Given the description of an element on the screen output the (x, y) to click on. 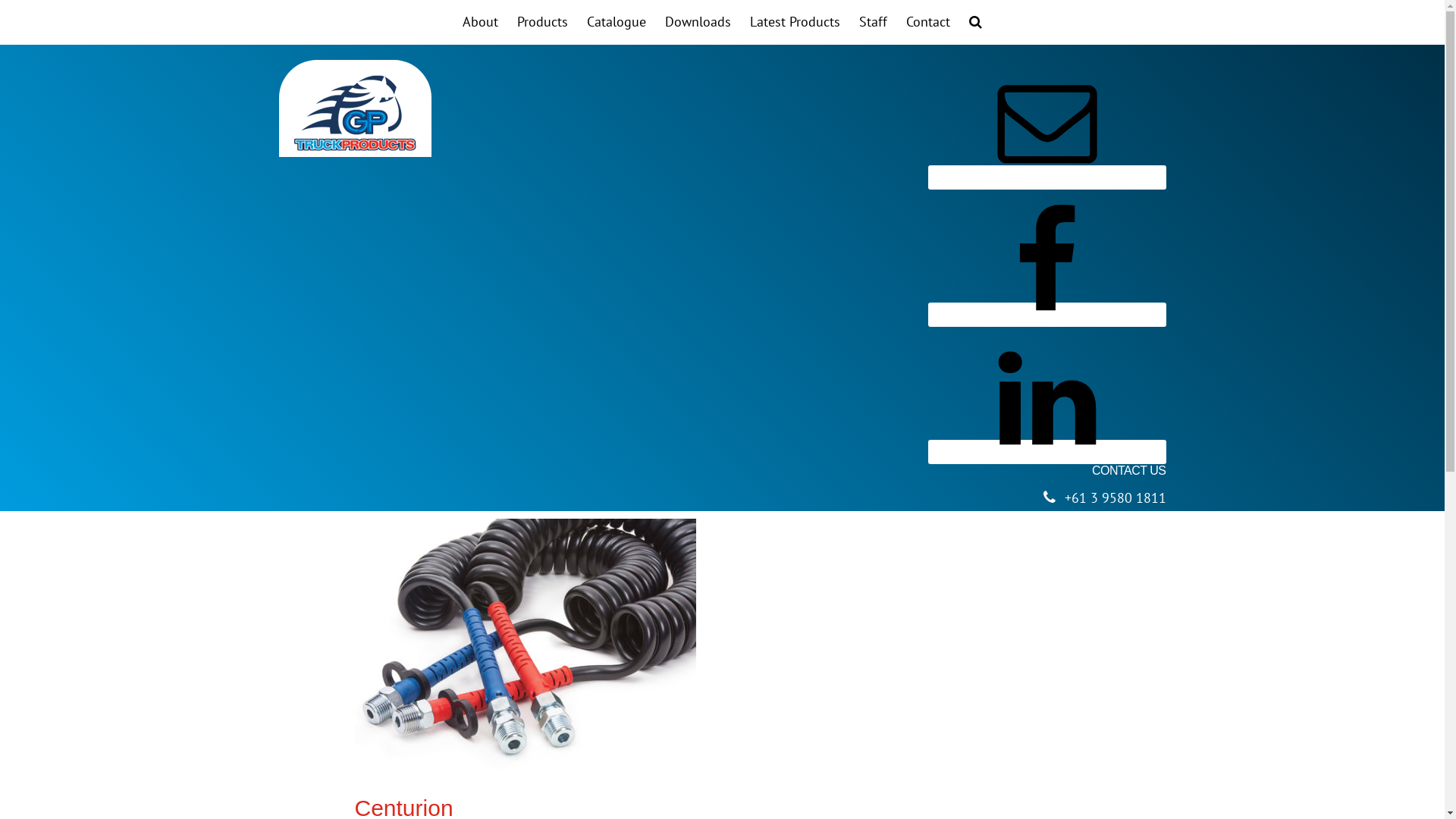
All Element type: text (421, 426)
Show Search Element type: text (975, 21)
STAFF Element type: text (870, 773)
About Element type: text (646, 747)
Catalogue Element type: text (616, 21)
Log in Element type: text (787, 747)
12 Element type: text (362, 426)
Latest Products Element type: text (794, 21)
CONTACT Element type: text (920, 773)
Products Element type: text (542, 21)
PRODUCTS Element type: text (574, 773)
Legals Element type: text (717, 747)
DOWNLOADS Element type: text (711, 773)
Facebook Element type: text (1047, 314)
Contact Element type: text (681, 747)
GP TRUCK PRODUCTS Element type: text (355, 112)
+61 3 9580 1811 Element type: text (1115, 497)
24 Element type: text (381, 426)
GP Truck Products Element type: text (555, 747)
Skip to primary navigation Element type: text (0, 0)
LATEST PRODUCTS Element type: text (798, 773)
Downloads Element type: text (697, 21)
Staff Element type: text (872, 21)
LinkedIn Element type: text (1047, 451)
48 Element type: text (401, 426)
Duelling Pixels Element type: text (893, 747)
ABOUT Element type: text (519, 773)
Home Element type: text (669, 783)
CATALOGUE Element type: text (641, 773)
Contact Element type: text (927, 21)
Email Element type: text (1047, 177)
About Element type: text (480, 21)
Archive Element type: text (750, 747)
